Given the description of an element on the screen output the (x, y) to click on. 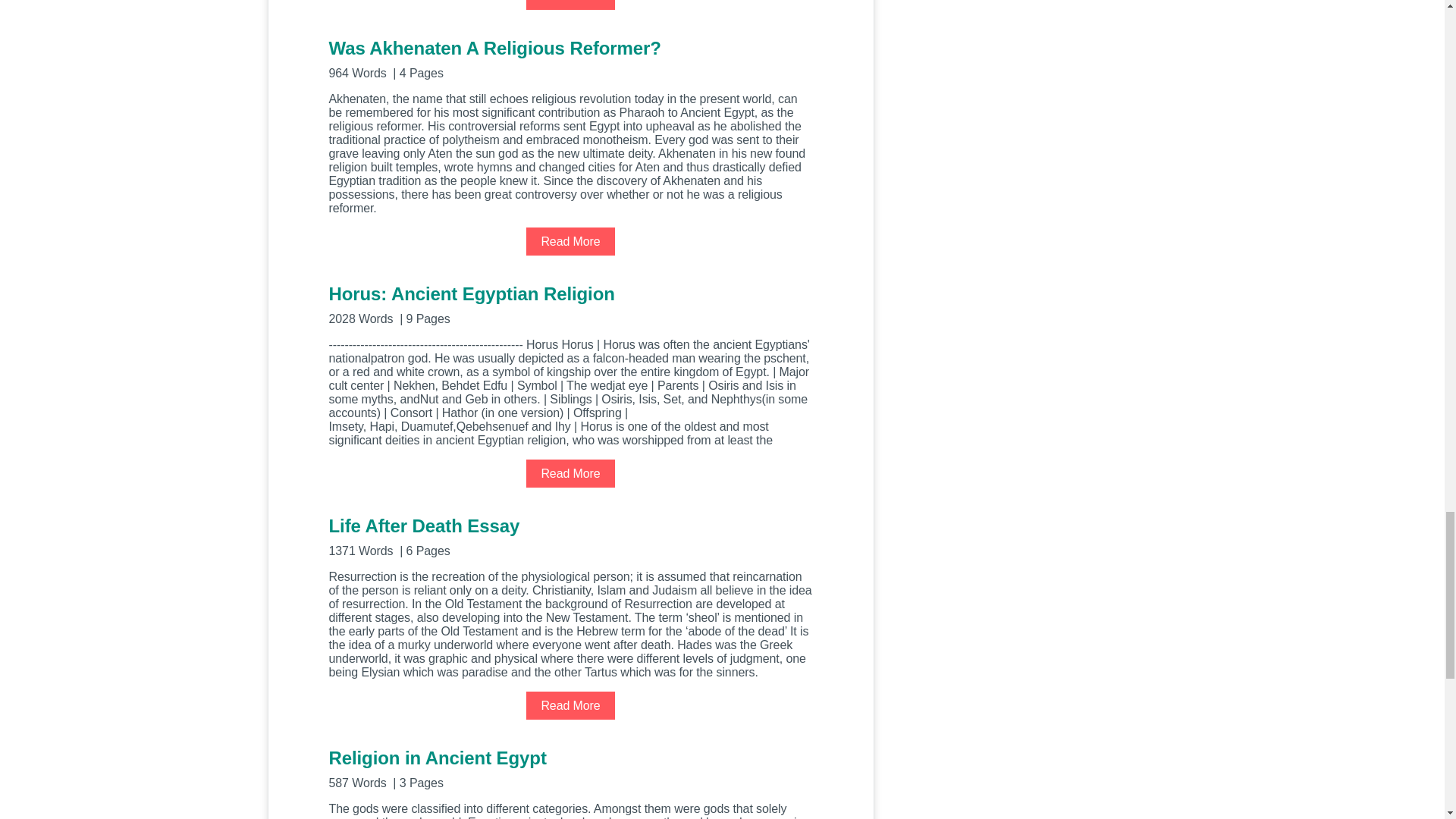
Read More (569, 241)
Was Akhenaten A Religious Reformer? (570, 57)
Life After Death Essay (570, 535)
Read More (569, 4)
Read More (569, 473)
Religion in Ancient Egypt (570, 767)
Read More (569, 705)
Horus: Ancient Egyptian Religion (570, 303)
